Given the description of an element on the screen output the (x, y) to click on. 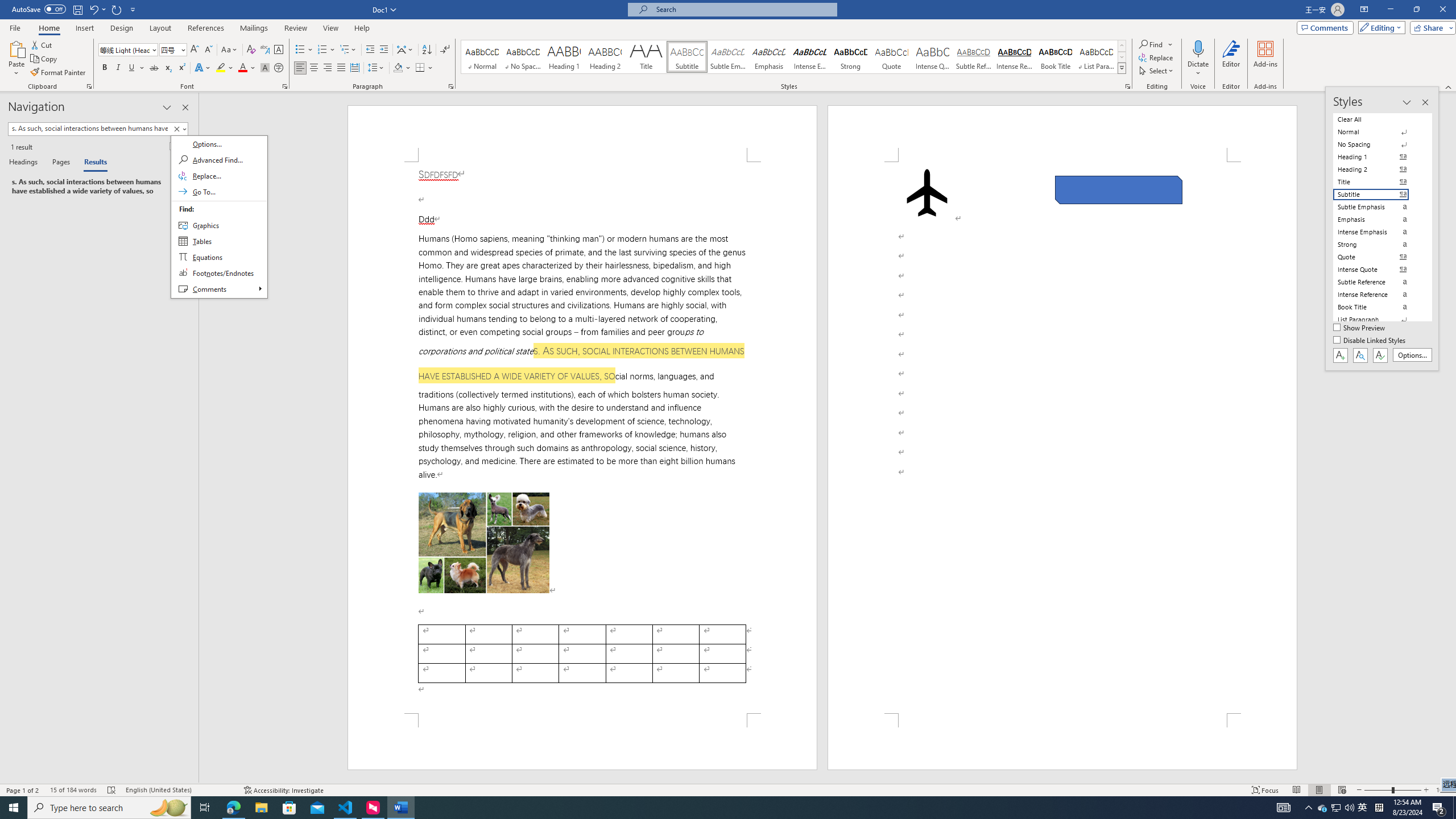
Subscript (167, 67)
Subtitle (686, 56)
Intense Reference (1014, 56)
Accessibility Checker Accessibility: Investigate (283, 790)
Page Number Page 1 of 2 (22, 790)
Heading 2 (605, 56)
Shading (402, 67)
